Given the description of an element on the screen output the (x, y) to click on. 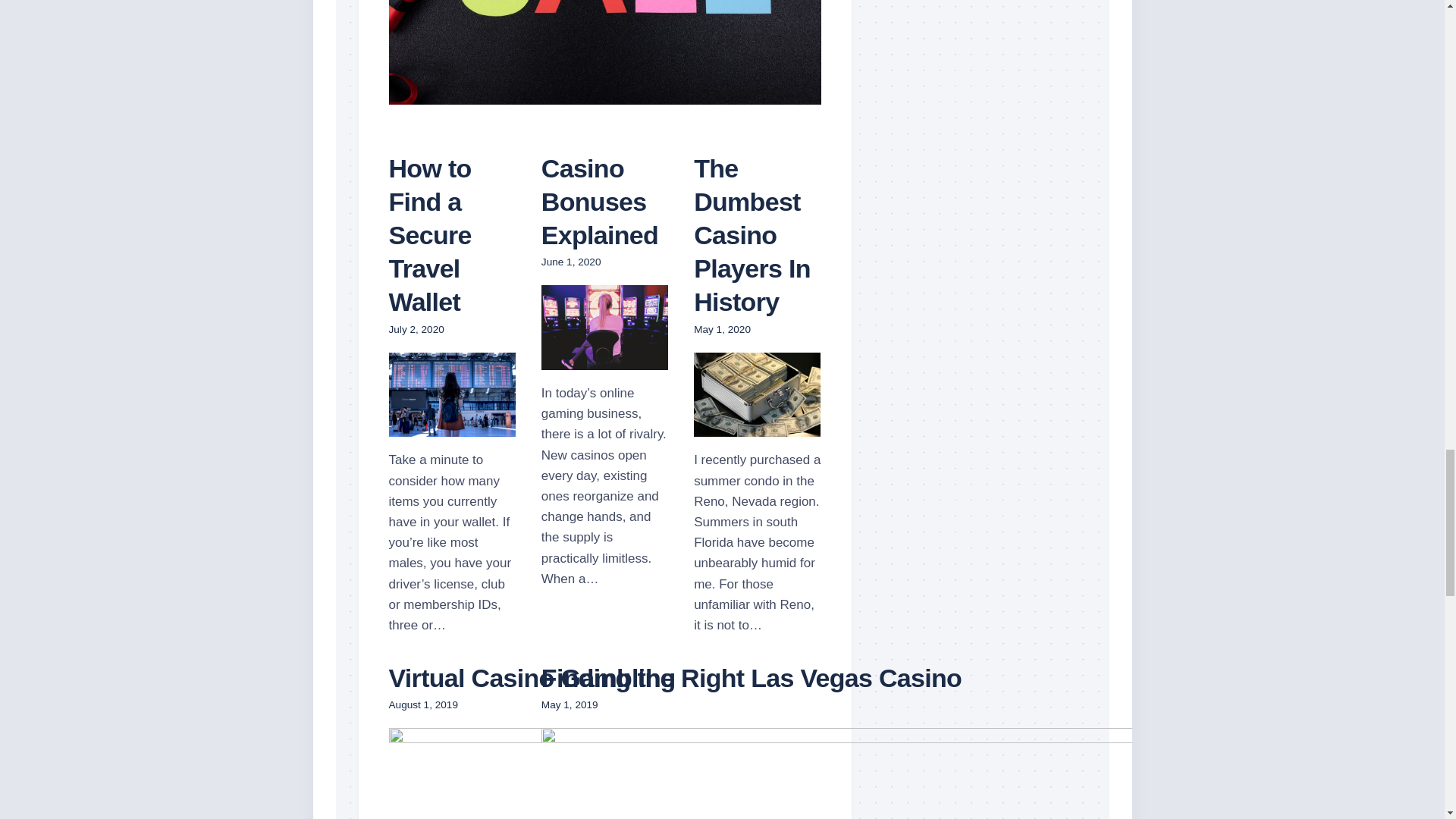
7:44 am (569, 704)
July 2, 2020 (416, 328)
May 1, 2019 (569, 704)
June 1, 2020 (571, 261)
Casino Bonuses Explained (604, 359)
Virtual Casino Gambling (531, 677)
August 1, 2019 (422, 704)
7:40 am (416, 328)
The Dumbest Casino Players In History (757, 426)
7:50 am (722, 328)
